Given the description of an element on the screen output the (x, y) to click on. 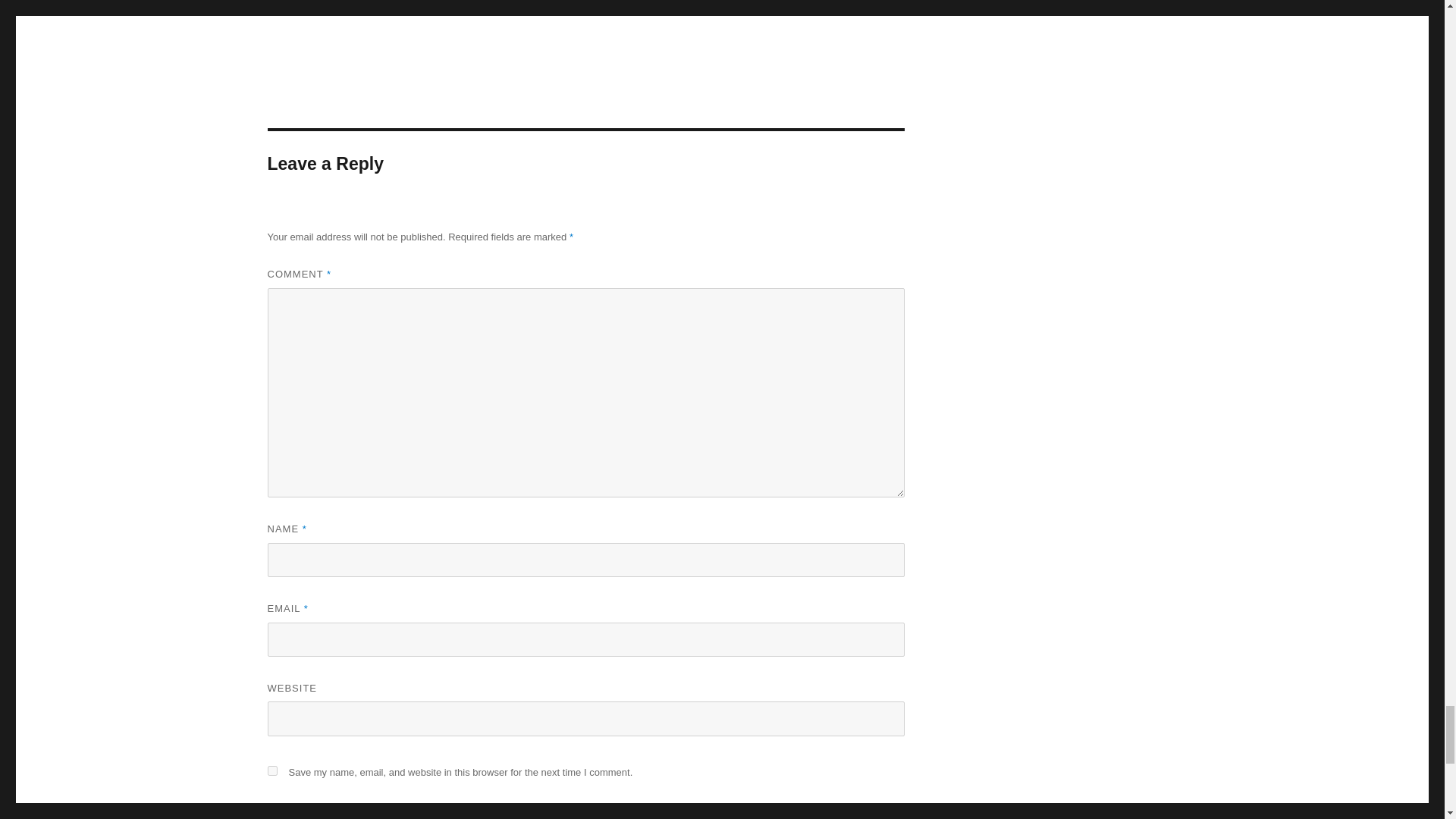
Post Comment (338, 813)
Post Comment (338, 813)
yes (271, 770)
